Given the description of an element on the screen output the (x, y) to click on. 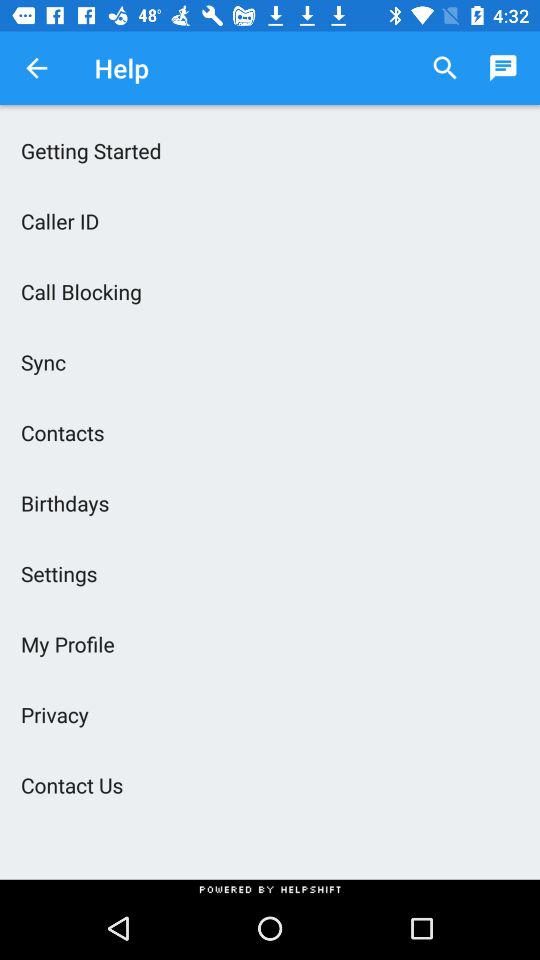
press caller id icon (270, 220)
